Given the description of an element on the screen output the (x, y) to click on. 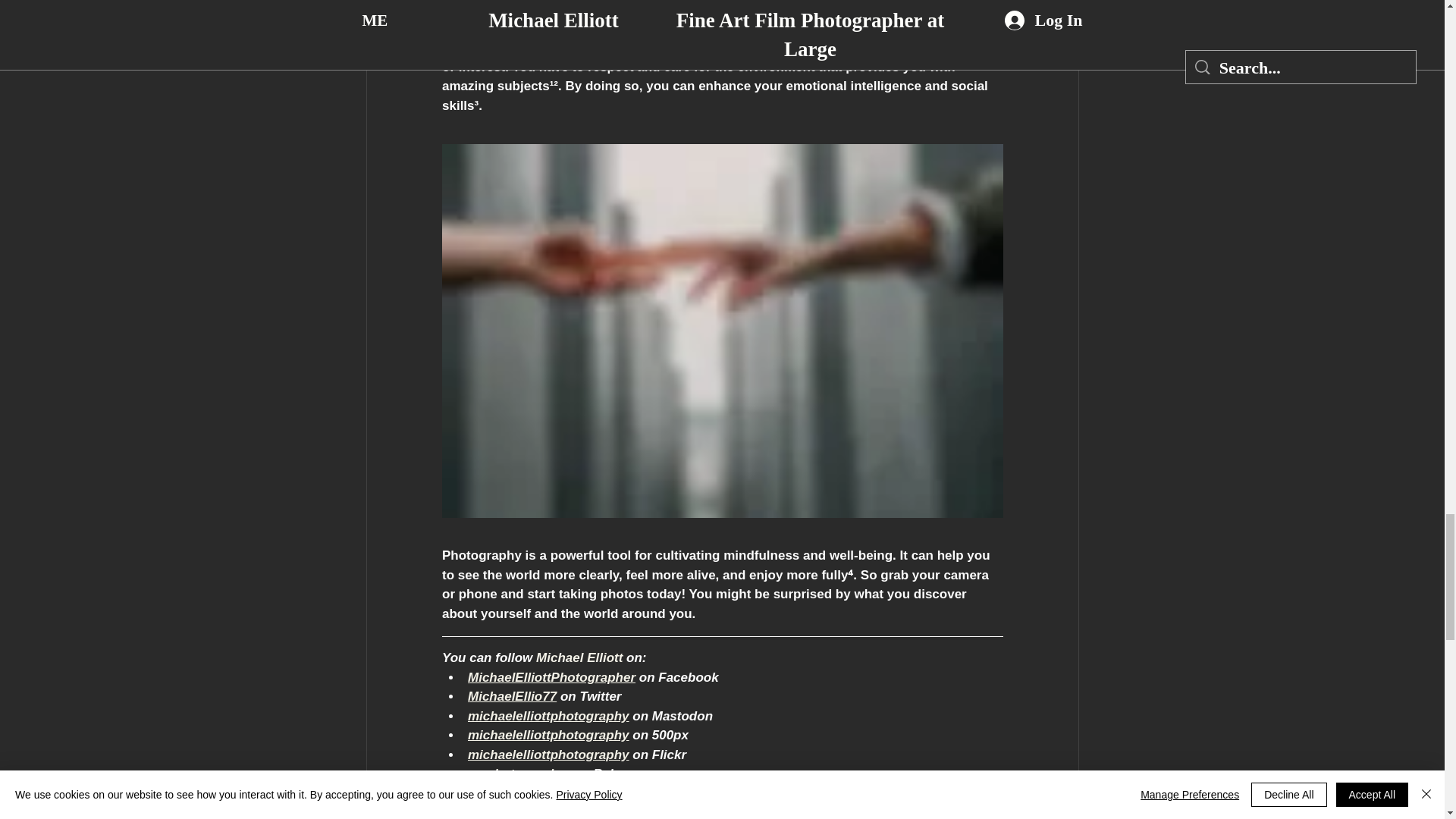
MichaelElliottPhotographer (550, 676)
michaelelliottphotography (547, 715)
MichaelEllio77 (511, 696)
Michael Elliott (579, 657)
